Given the description of an element on the screen output the (x, y) to click on. 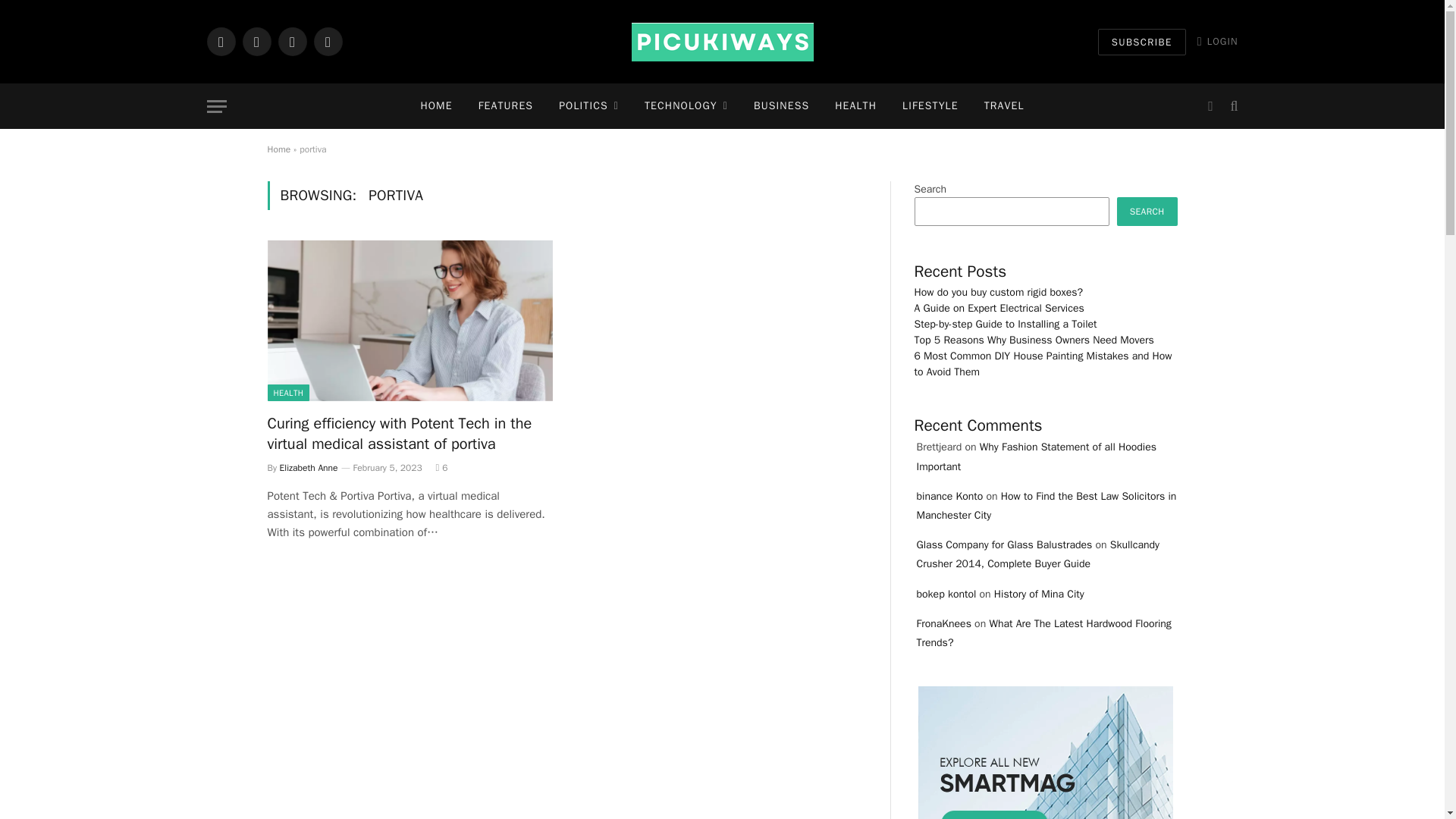
POLITICS (588, 105)
Switch to Dark Design - easier on eyes. (1209, 106)
Instagram (291, 41)
HOME (435, 105)
LOGIN (1217, 41)
HEALTH (855, 105)
BUSINESS (781, 105)
Picuki Ways (721, 41)
Twitter (256, 41)
FEATURES (505, 105)
SUBSCRIBE (1141, 41)
LIFESTYLE (930, 105)
Facebook (220, 41)
TECHNOLOGY (686, 105)
Vimeo (328, 41)
